Given the description of an element on the screen output the (x, y) to click on. 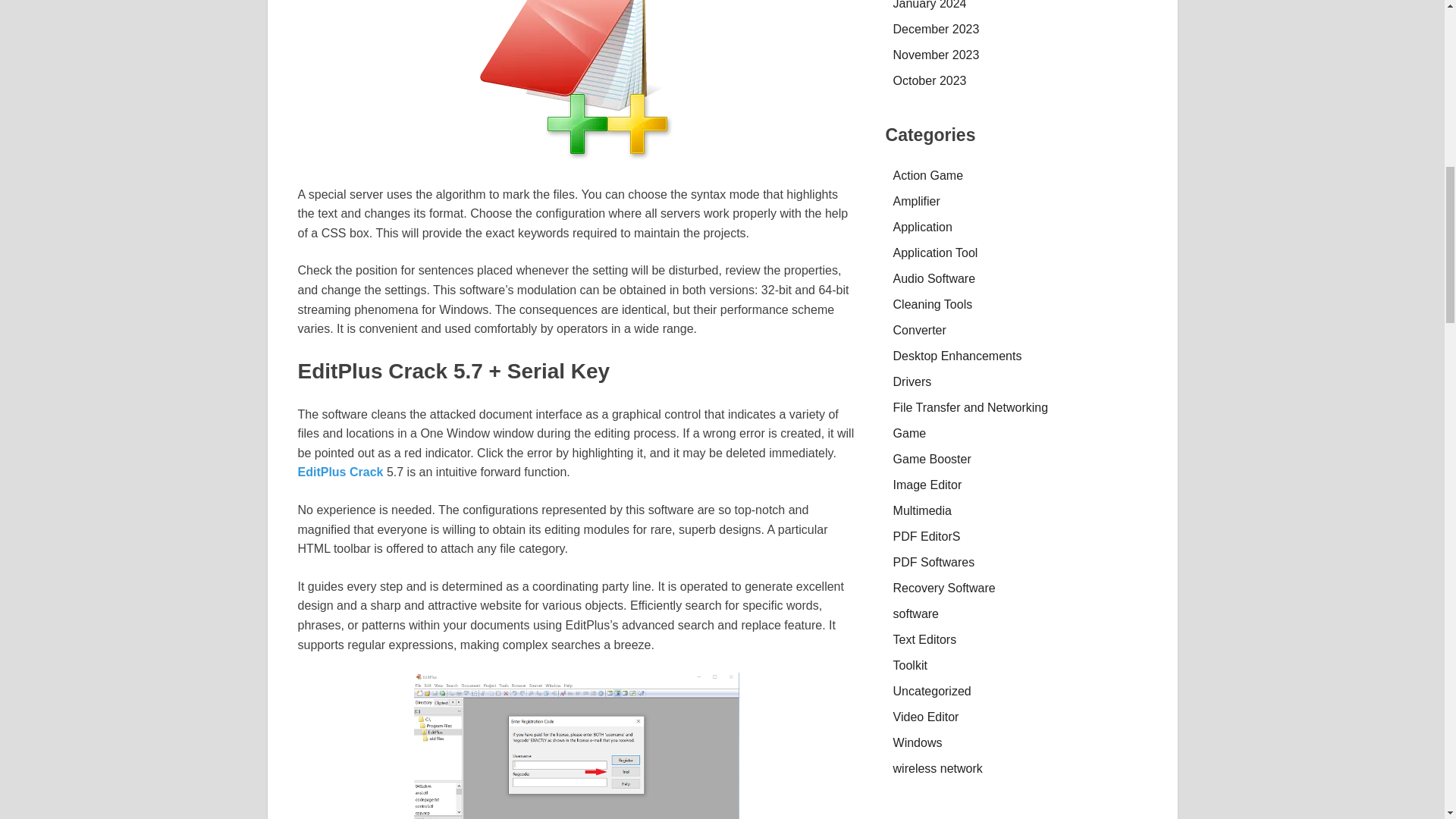
EditPlus Crack (575, 80)
EditPlus Crack (341, 472)
EditPlus Crack (576, 745)
